Given the description of an element on the screen output the (x, y) to click on. 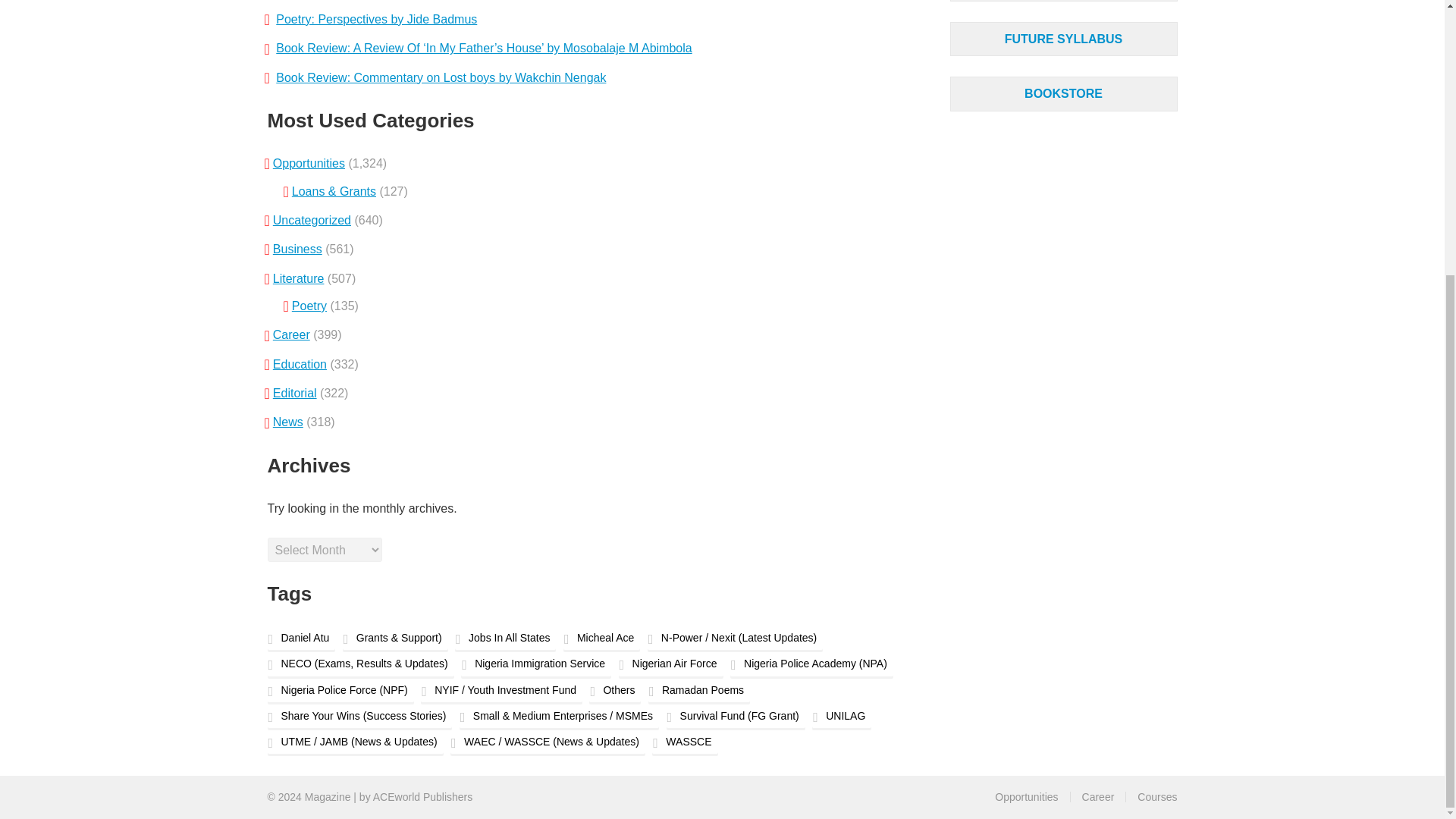
Poetry: Perspectives by Jide Badmus (376, 19)
Book Review: Commentary on Lost boys by Wakchin Nengak (440, 77)
